Given the description of an element on the screen output the (x, y) to click on. 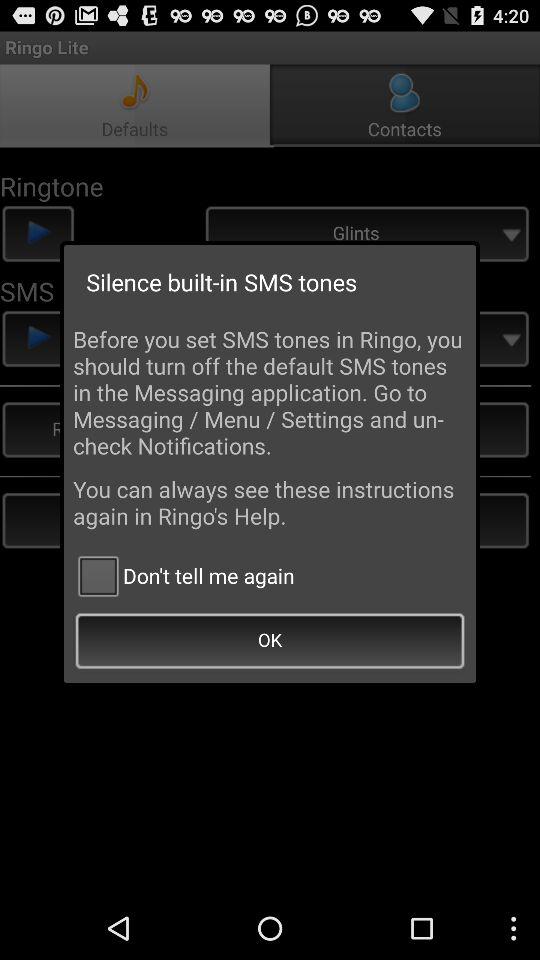
scroll until the ok (269, 641)
